Given the description of an element on the screen output the (x, y) to click on. 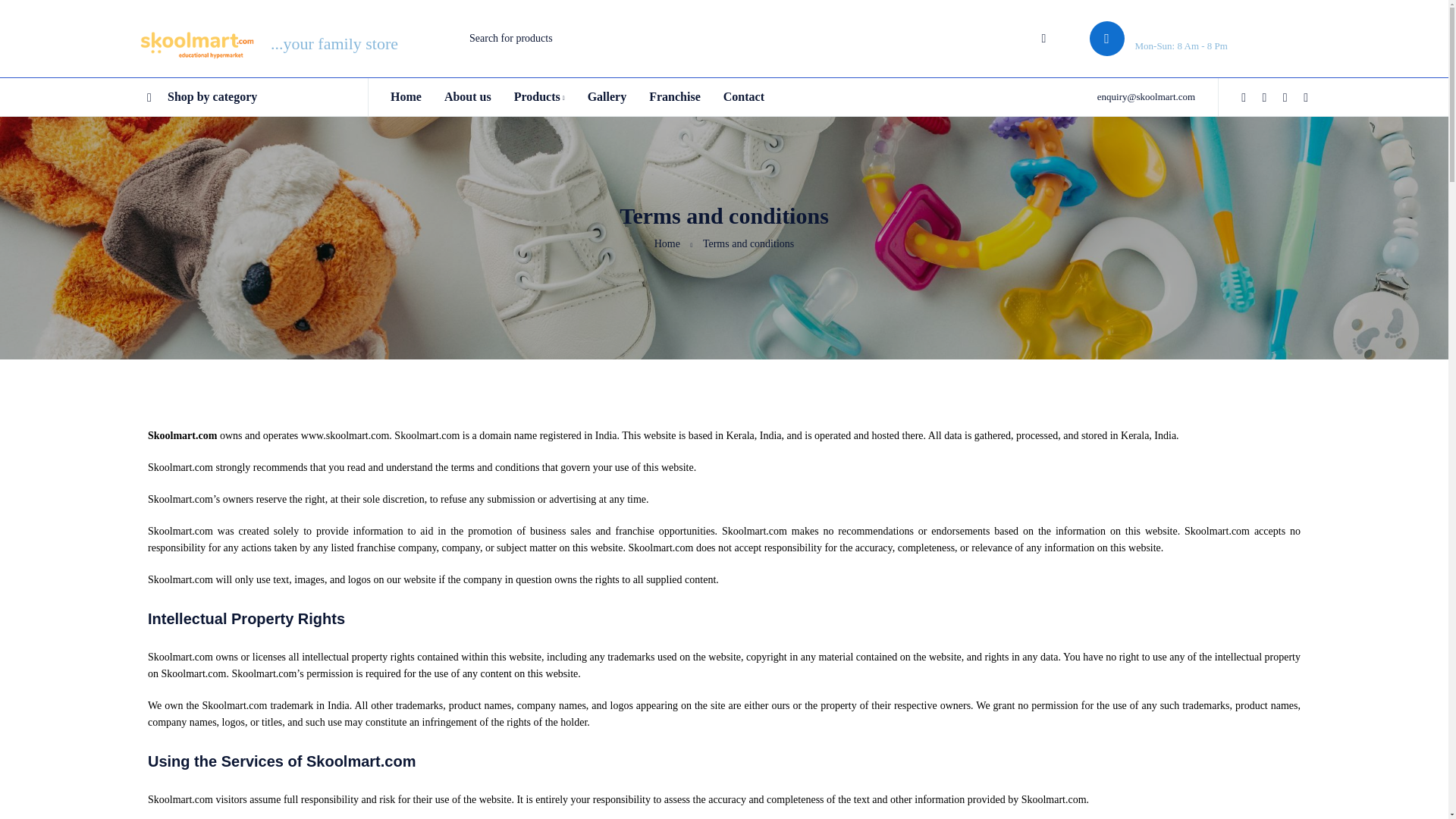
Search (1042, 38)
Products (538, 96)
Franchise (674, 96)
Search (1042, 38)
Skoolcare (196, 44)
...your family store (268, 44)
Contact (743, 96)
About us (468, 96)
Gallery (607, 96)
